Given the description of an element on the screen output the (x, y) to click on. 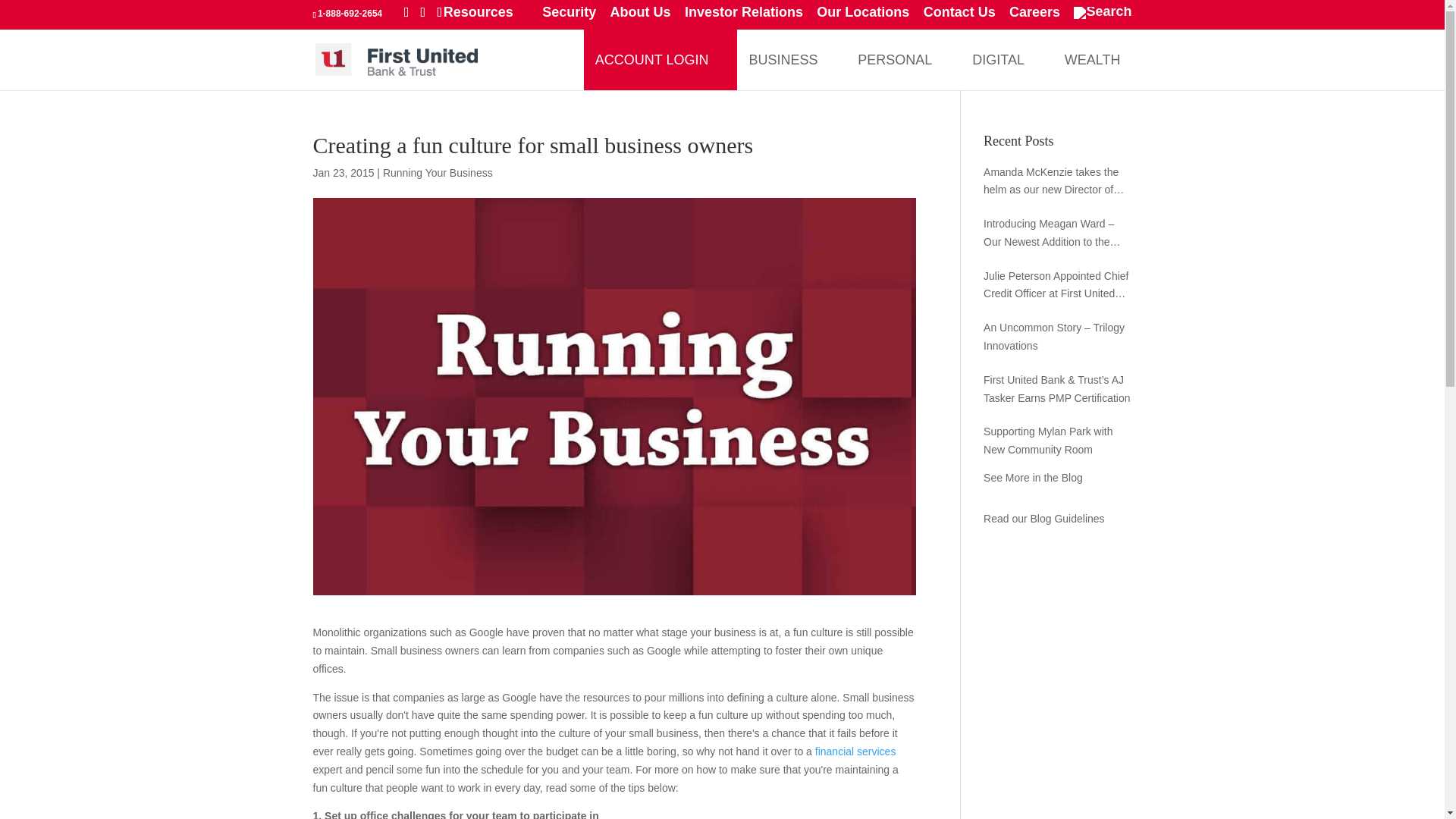
Our Locations (862, 17)
Contact Us (959, 17)
Resources (486, 17)
Careers (1034, 17)
PERSONAL (894, 58)
Investor Relations (743, 17)
Security (568, 17)
ACCOUNT LOGIN (651, 58)
BUSINESS (782, 58)
Investor Relations (743, 17)
Wealth (1092, 58)
About Us (640, 17)
